Given the description of an element on the screen output the (x, y) to click on. 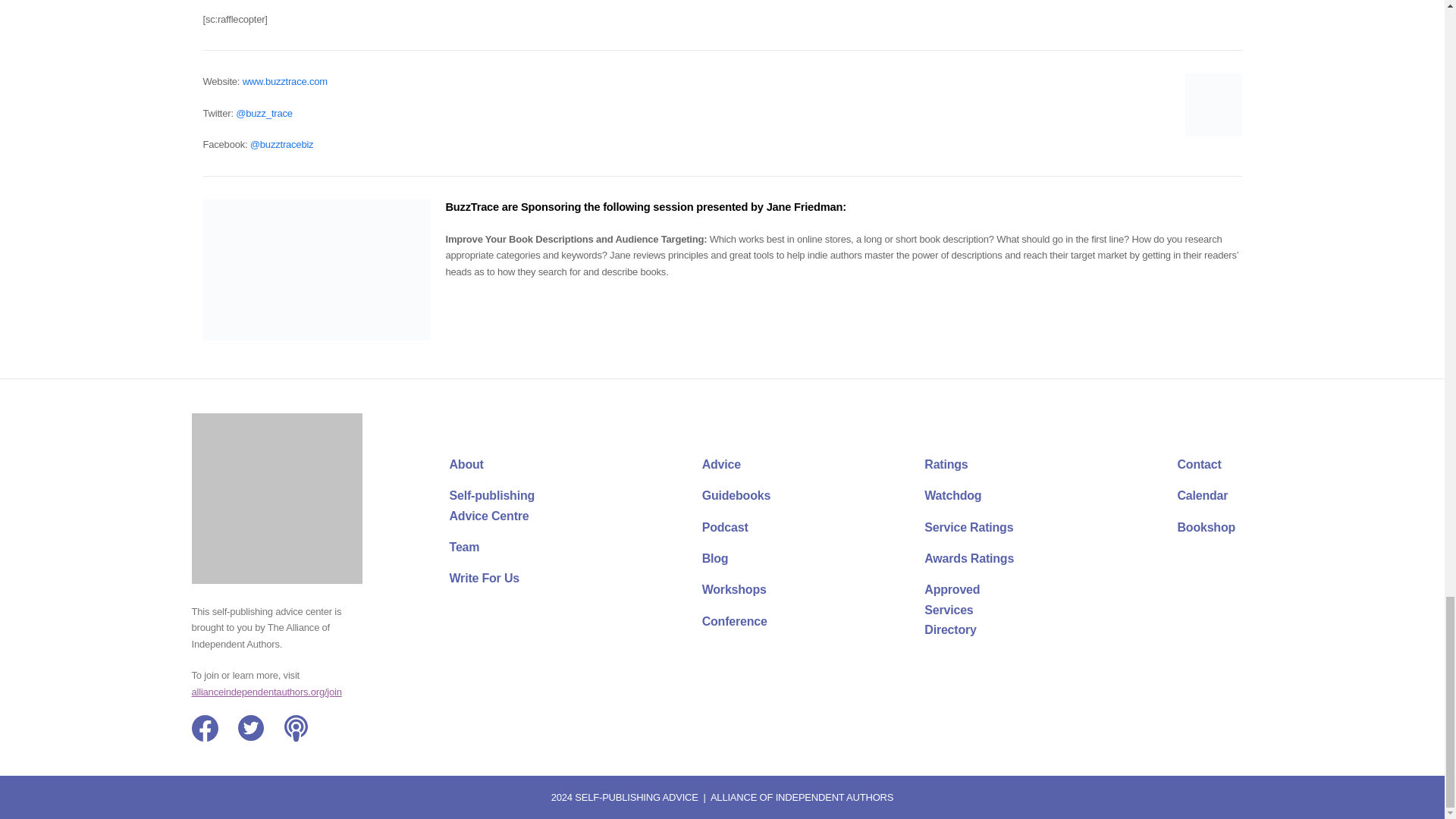
Podcast (296, 728)
Twitter (251, 728)
Facebook (203, 728)
